Given the description of an element on the screen output the (x, y) to click on. 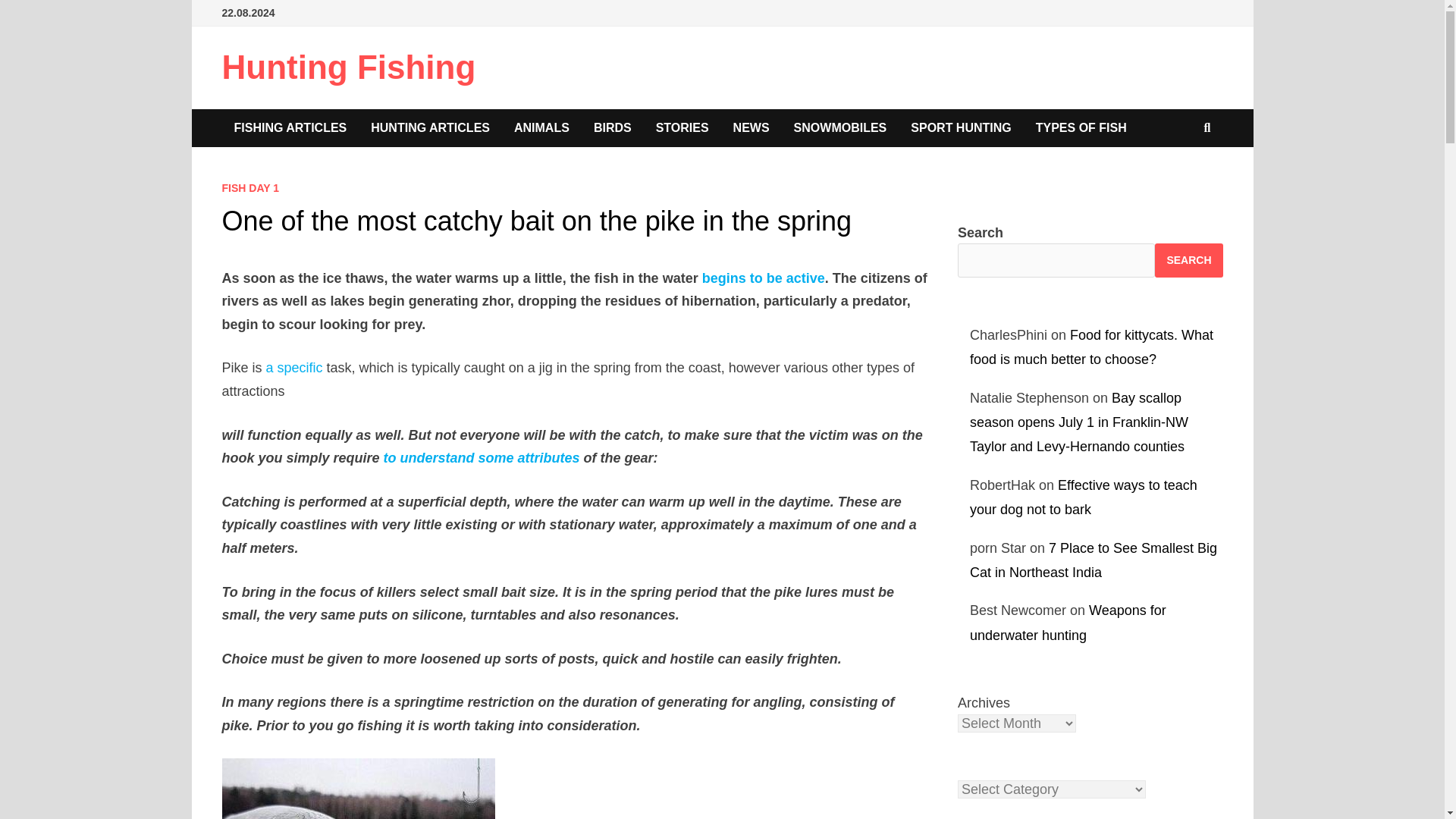
SPORT HUNTING (960, 127)
to understand some attributes (481, 458)
FISHING ARTICLES (289, 127)
STORIES (681, 127)
NEWS (750, 127)
TYPES OF FISH (1080, 127)
BIRDS (611, 127)
SNOWMOBILES (840, 127)
SEARCH (1188, 260)
FISH DAY 1 (249, 187)
